Given the description of an element on the screen output the (x, y) to click on. 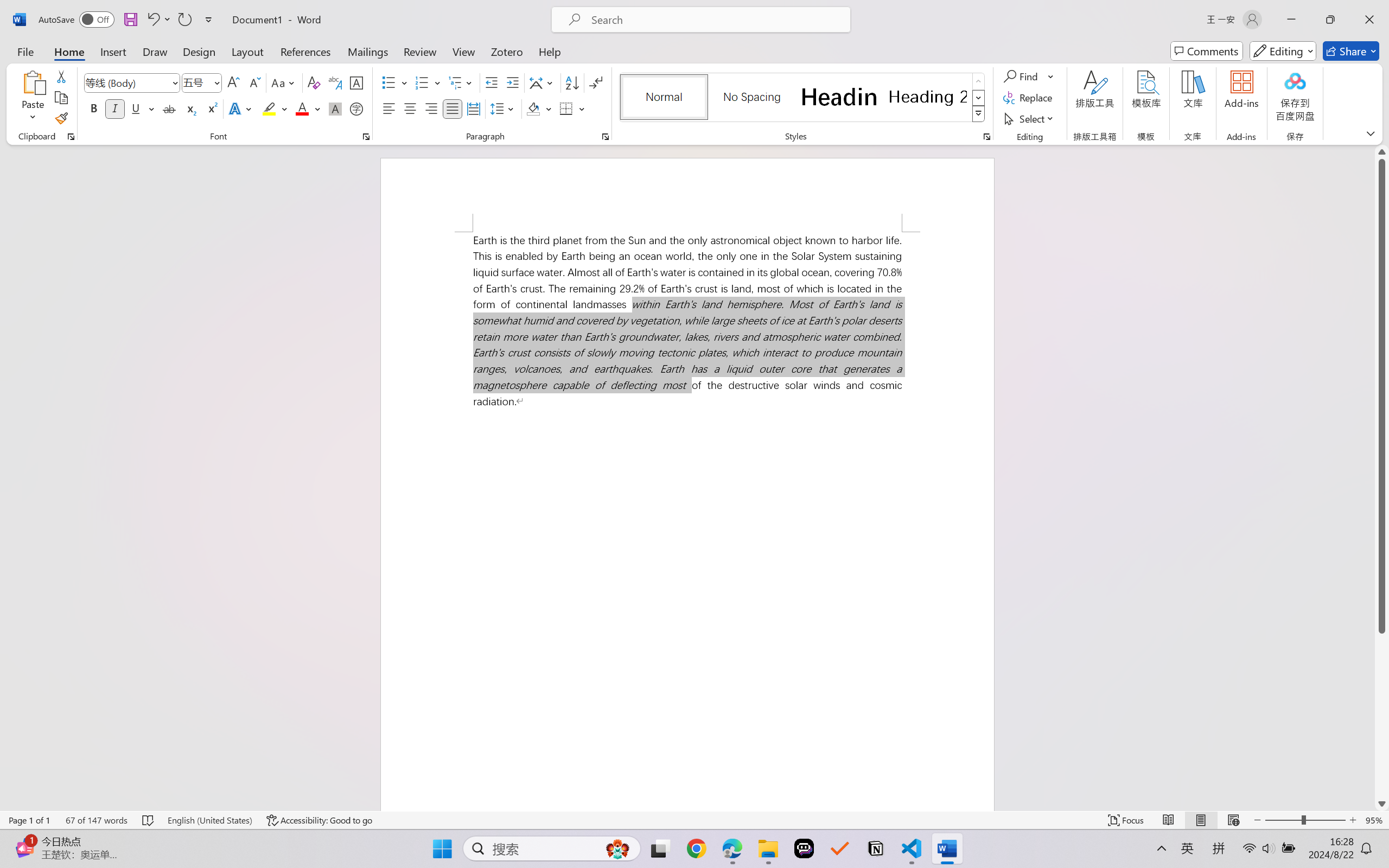
Text Effects and Typography (241, 108)
Character Border (356, 82)
